Given the description of an element on the screen output the (x, y) to click on. 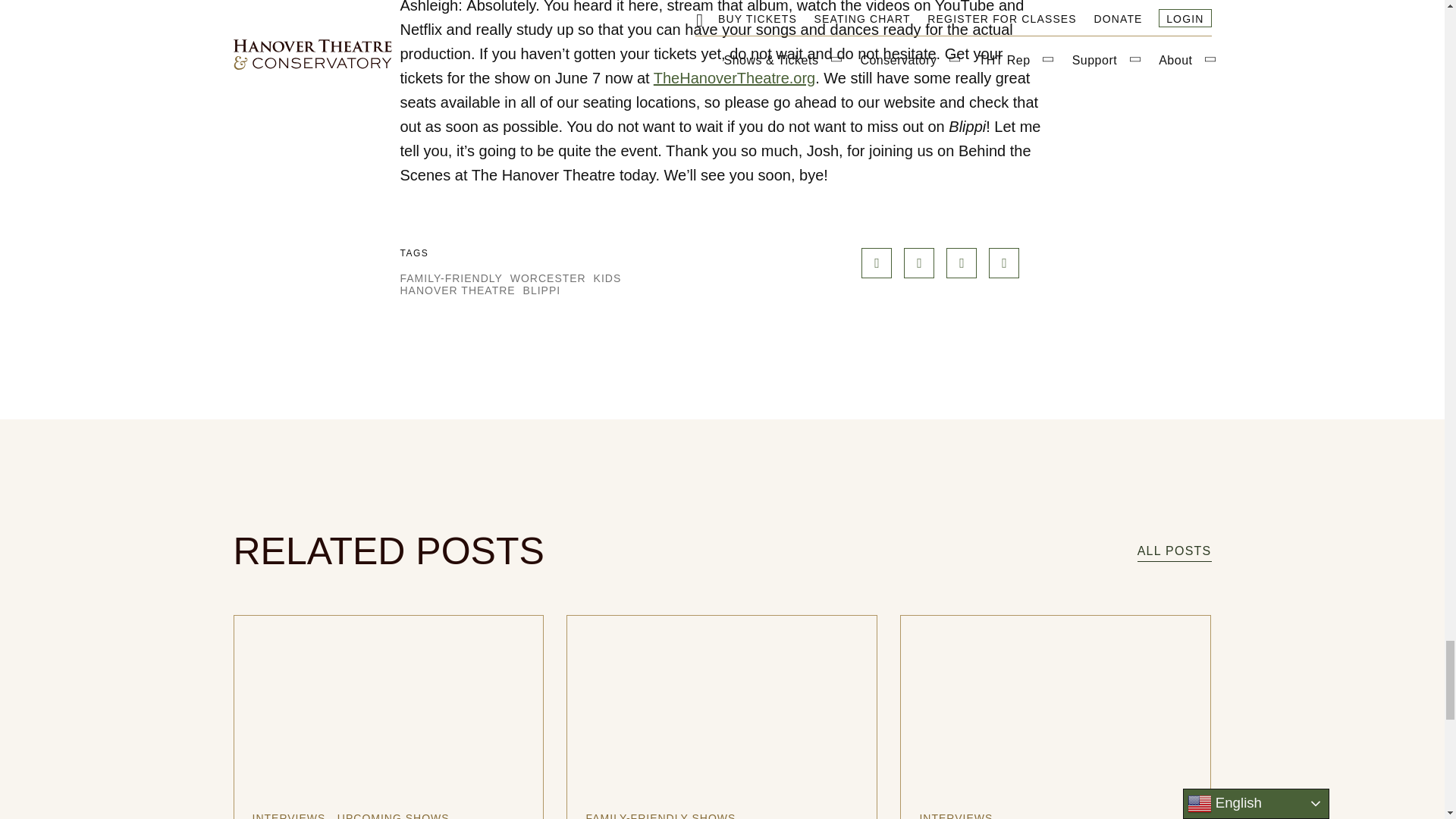
Blog Link (1174, 551)
